Given the description of an element on the screen output the (x, y) to click on. 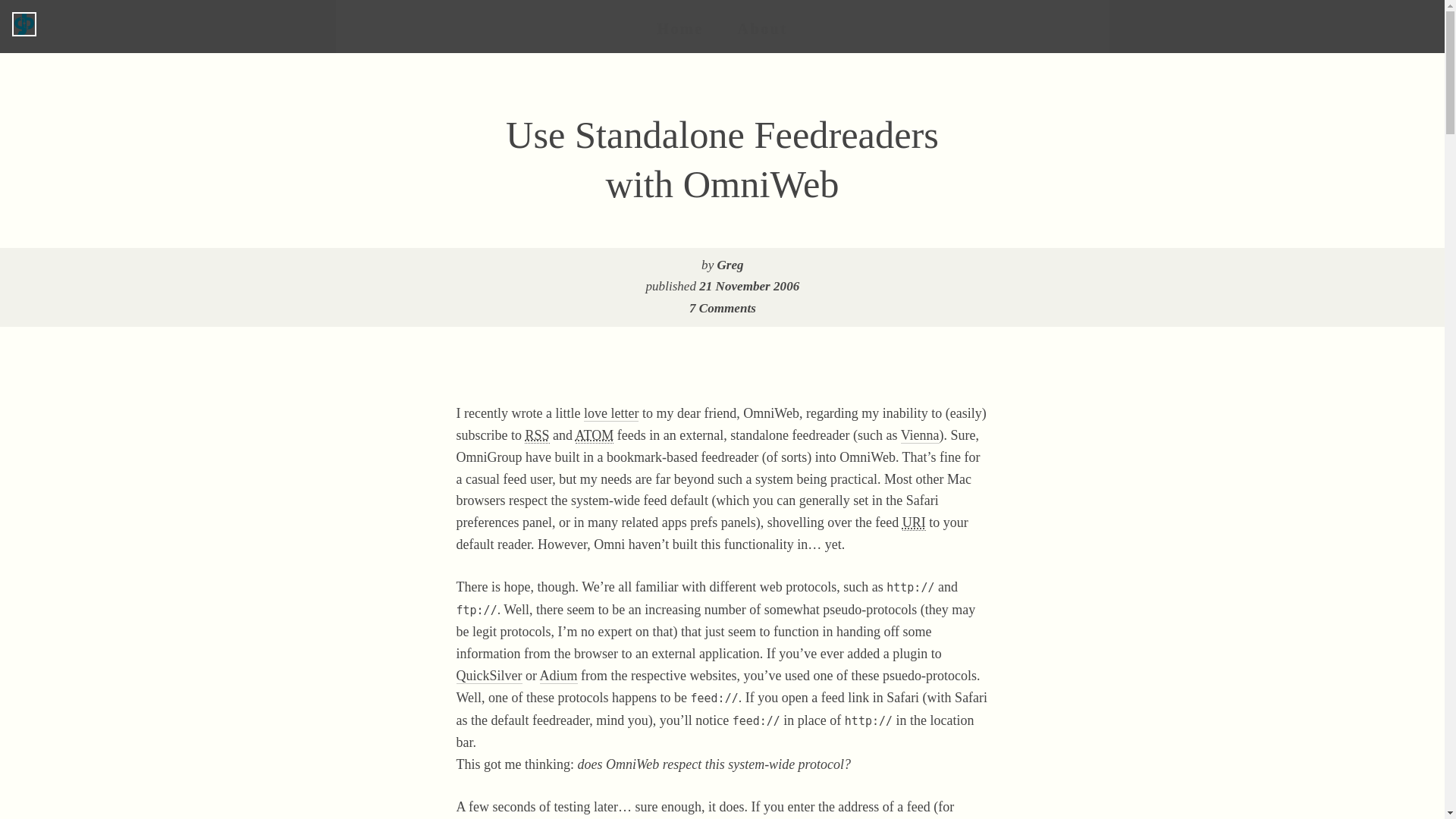
Adium IM client (559, 675)
love letter (611, 413)
Vienna (920, 435)
21 November 2006 (748, 286)
Vienna Feedreader (920, 435)
Atom Syndication Format (594, 435)
About (762, 28)
Home (680, 28)
Adium (559, 675)
QuickSilver (489, 675)
Greg (721, 308)
Uniform Resource Indicator (730, 264)
Think: Dearest OmniWeb (914, 522)
QS (611, 413)
